Given the description of an element on the screen output the (x, y) to click on. 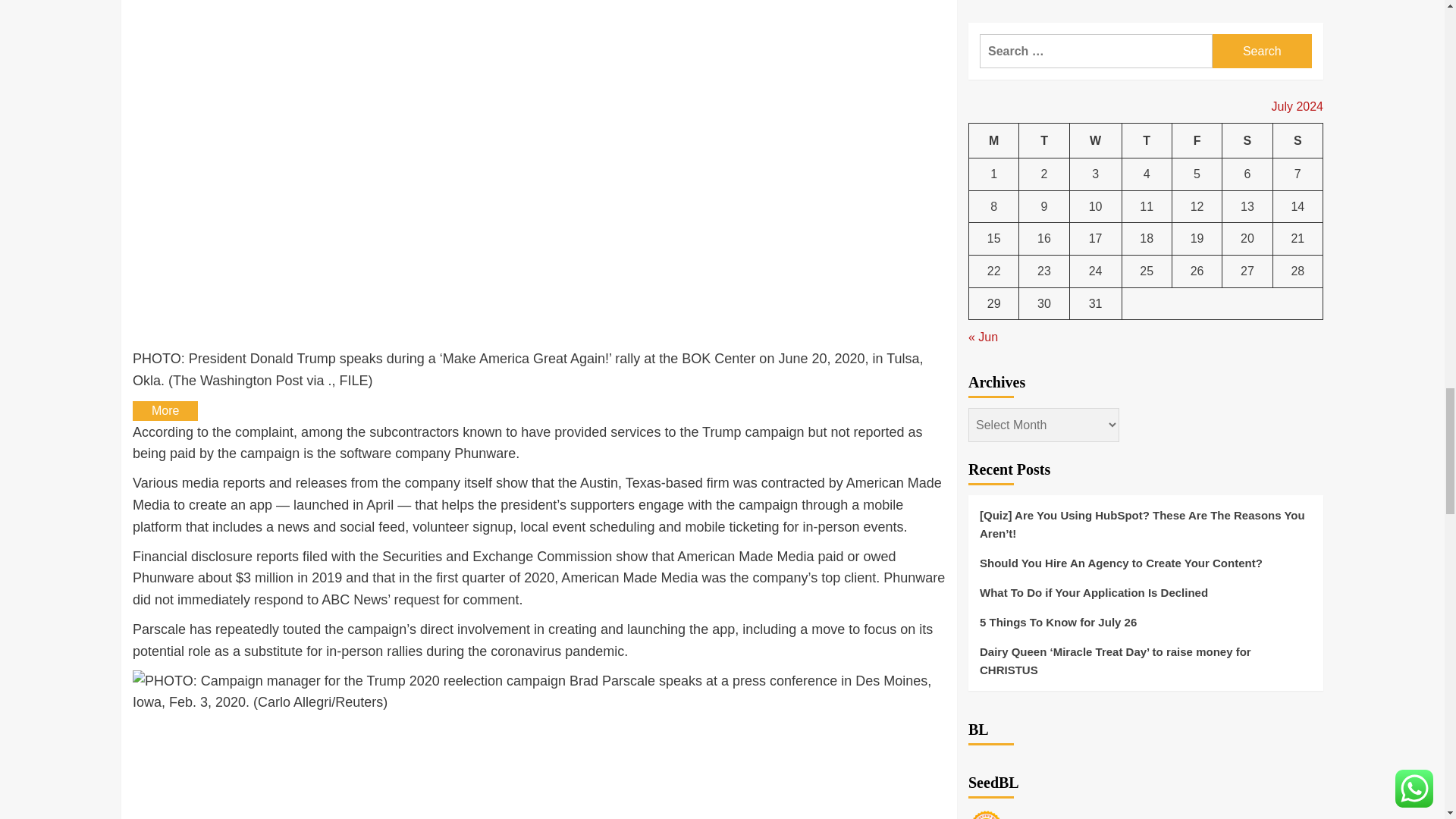
More (165, 410)
